Given the description of an element on the screen output the (x, y) to click on. 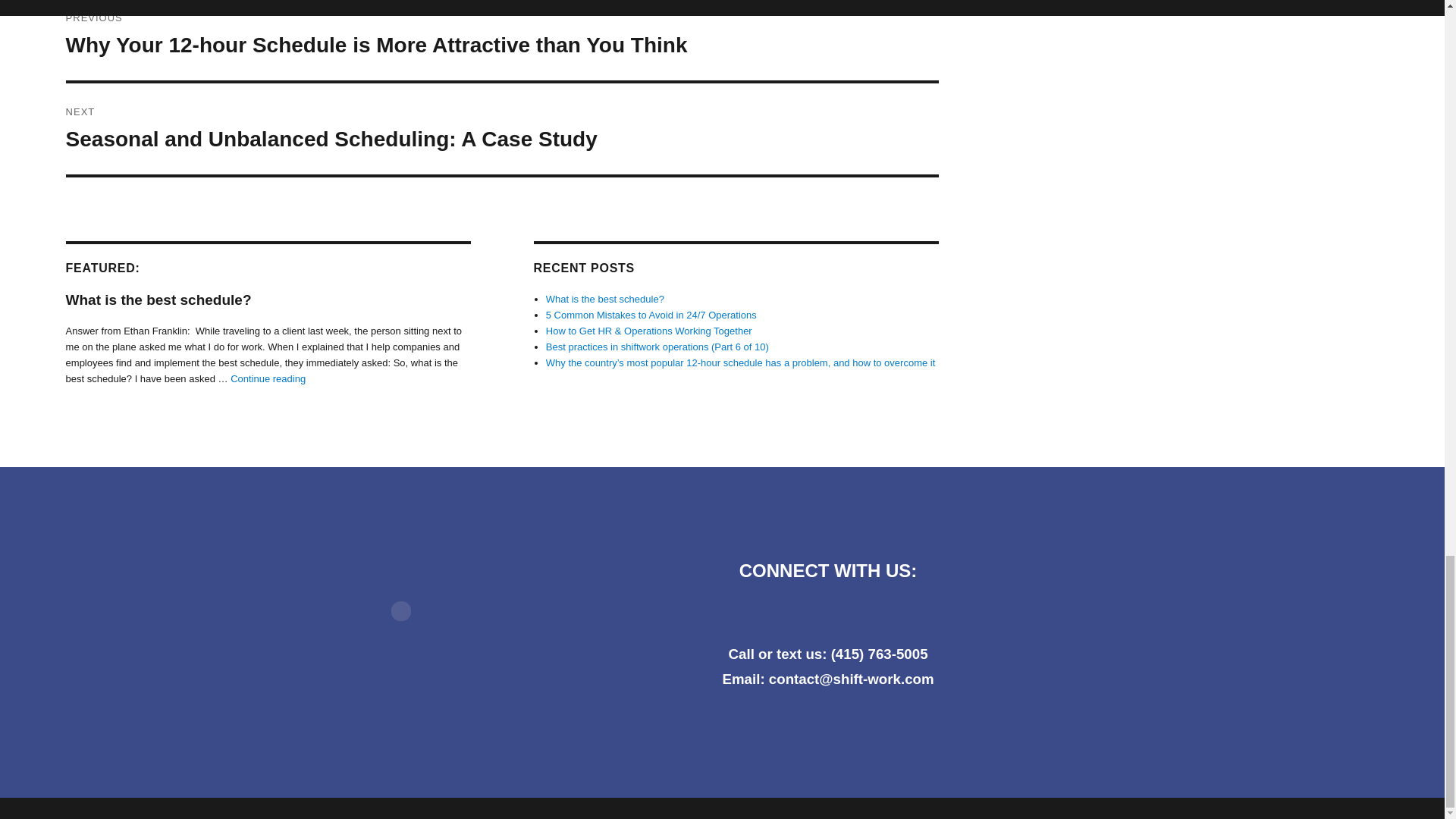
Find Us on LinkedIn (828, 614)
Subscribe on YouTube (868, 614)
Follow Us on Twitter (787, 614)
